Given the description of an element on the screen output the (x, y) to click on. 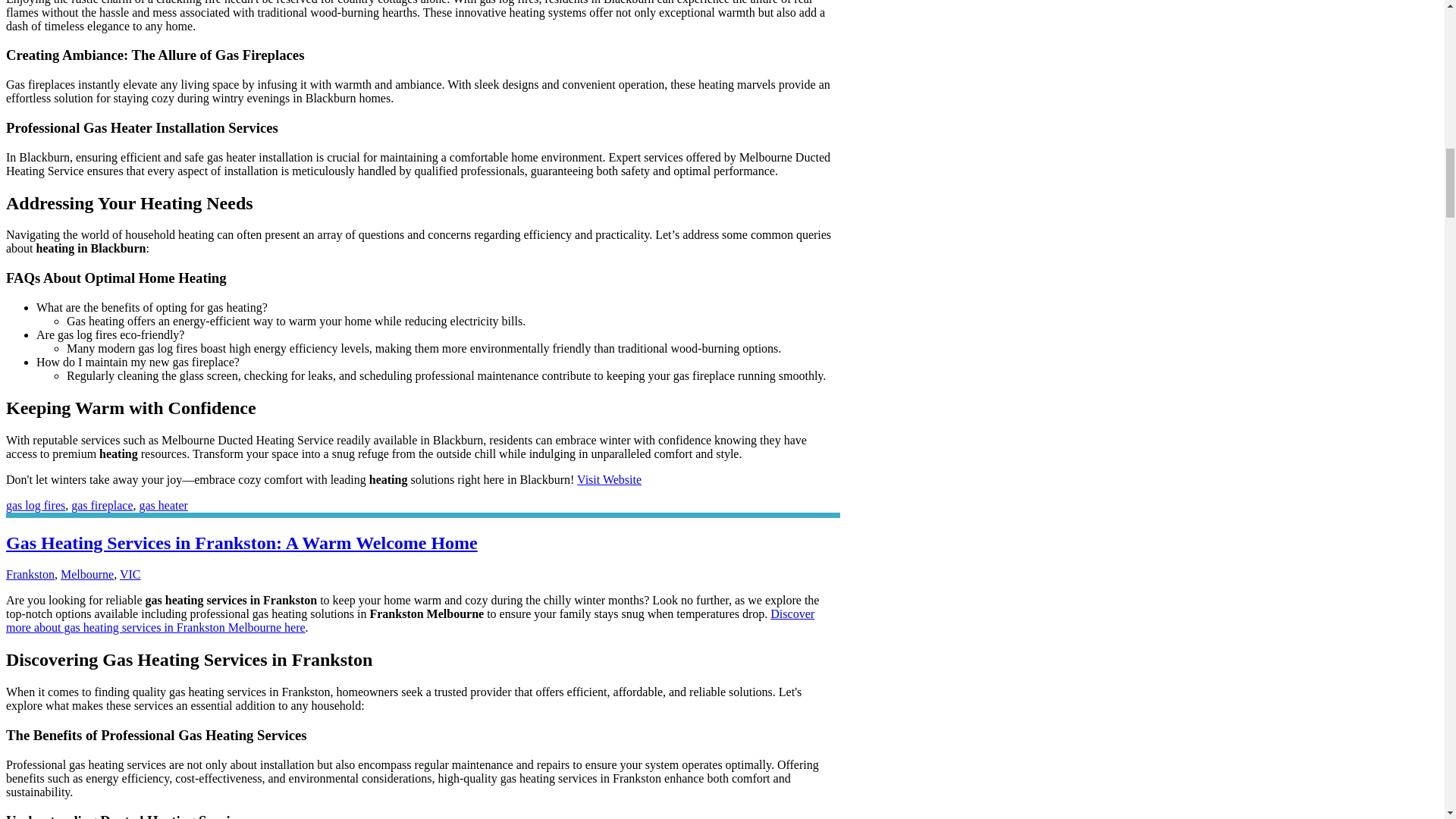
Melbourne (87, 574)
Visit Website (609, 479)
gas log fires (35, 504)
Gas Heating Services in Frankston: A Warm Welcome Home (241, 542)
Frankston (30, 574)
gas fireplace (101, 504)
VIC (130, 574)
gas heater (162, 504)
